Given the description of an element on the screen output the (x, y) to click on. 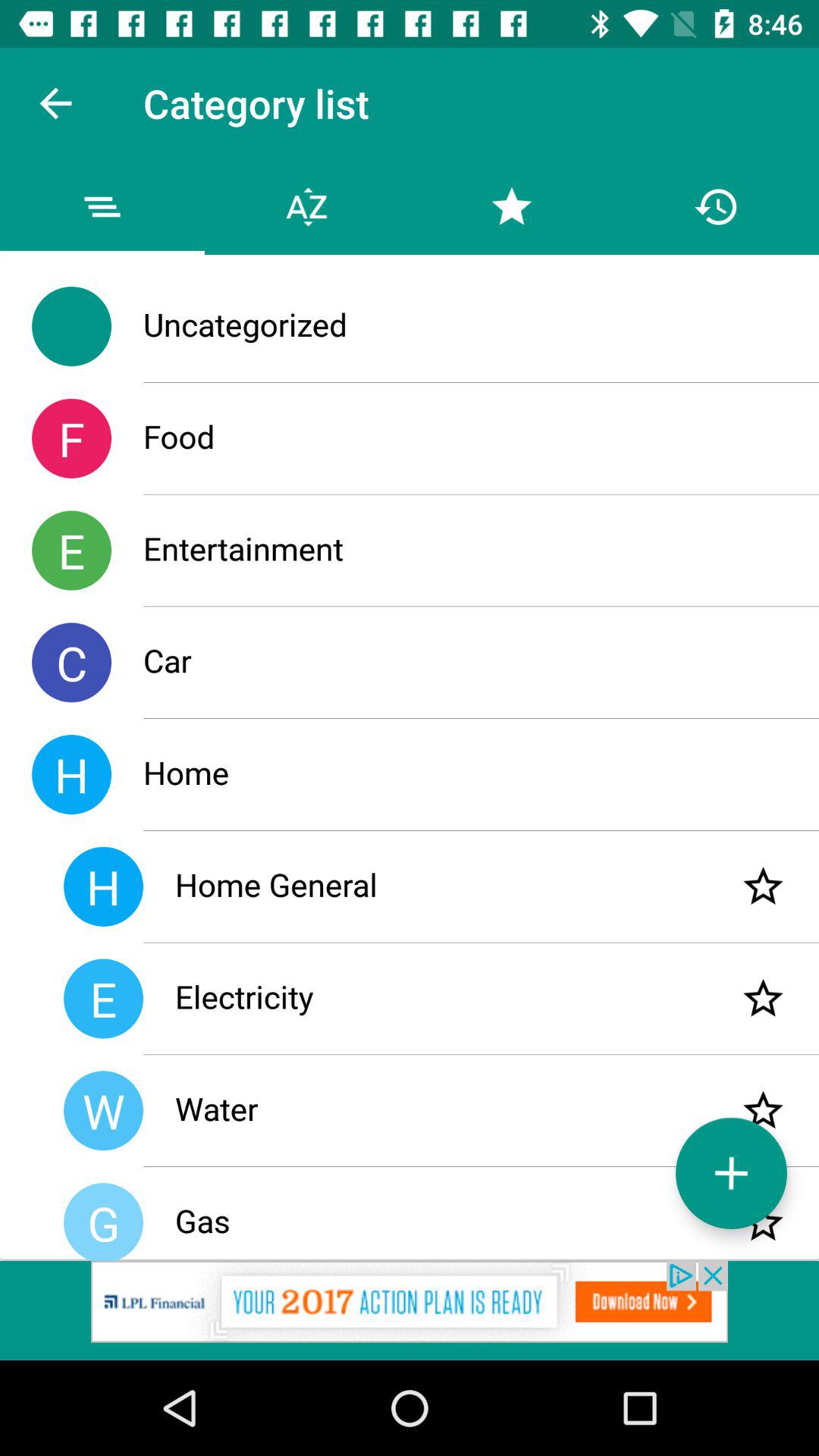
favorite (763, 886)
